Given the description of an element on the screen output the (x, y) to click on. 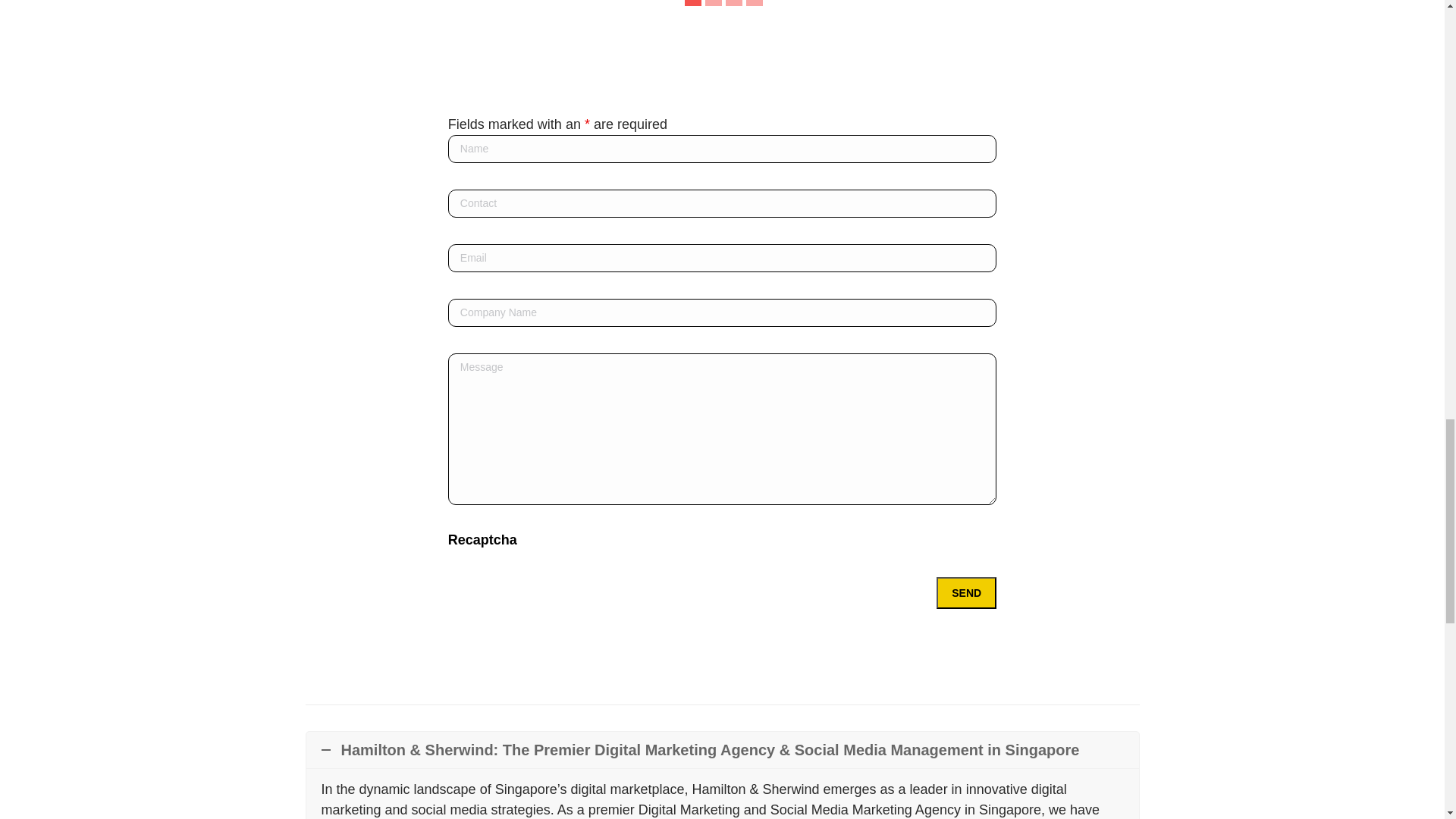
SEND (965, 593)
